Given the description of an element on the screen output the (x, y) to click on. 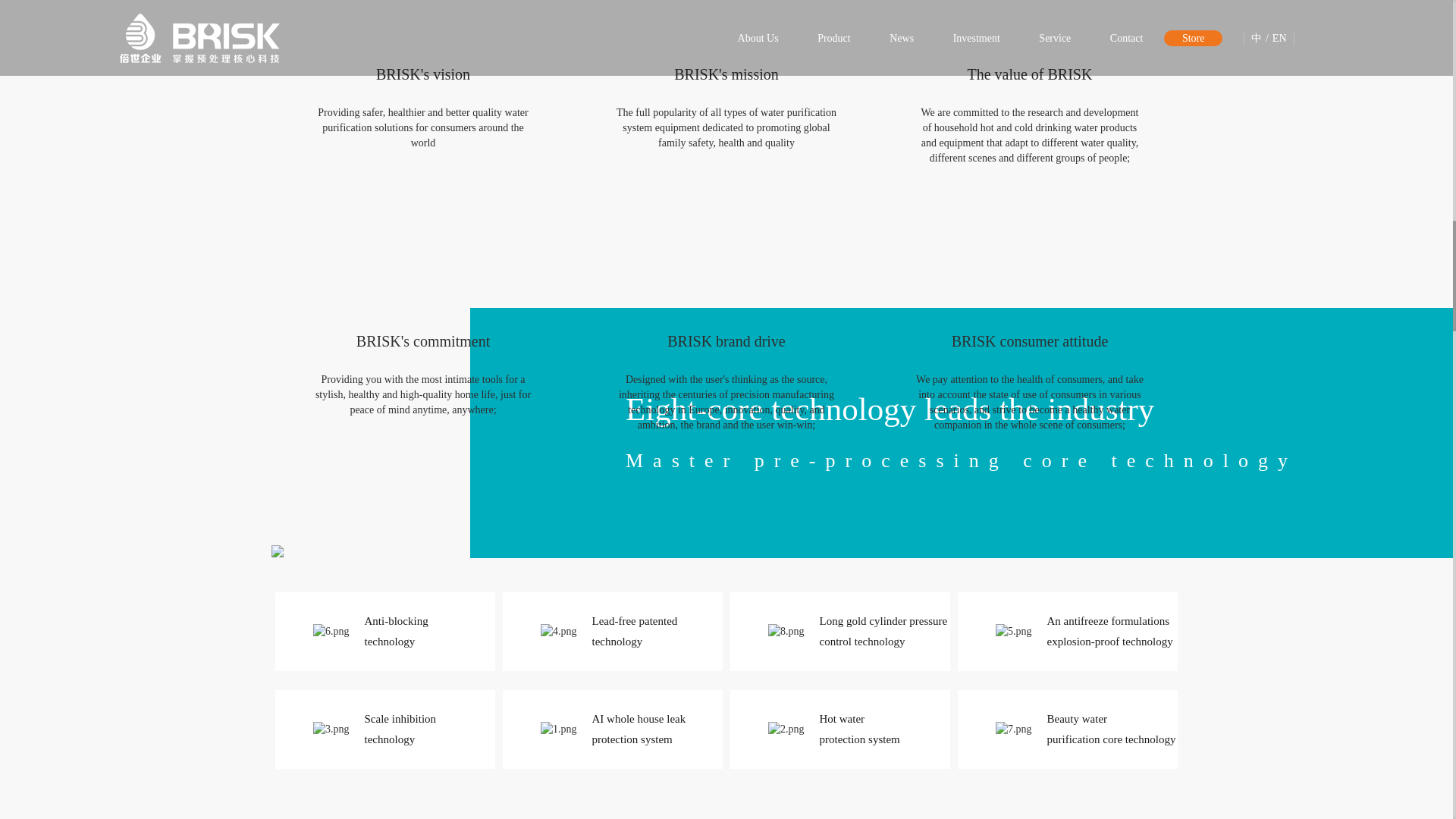
1564123262479804.png (558, 631)
1564123276123544.png (331, 631)
